Given the description of an element on the screen output the (x, y) to click on. 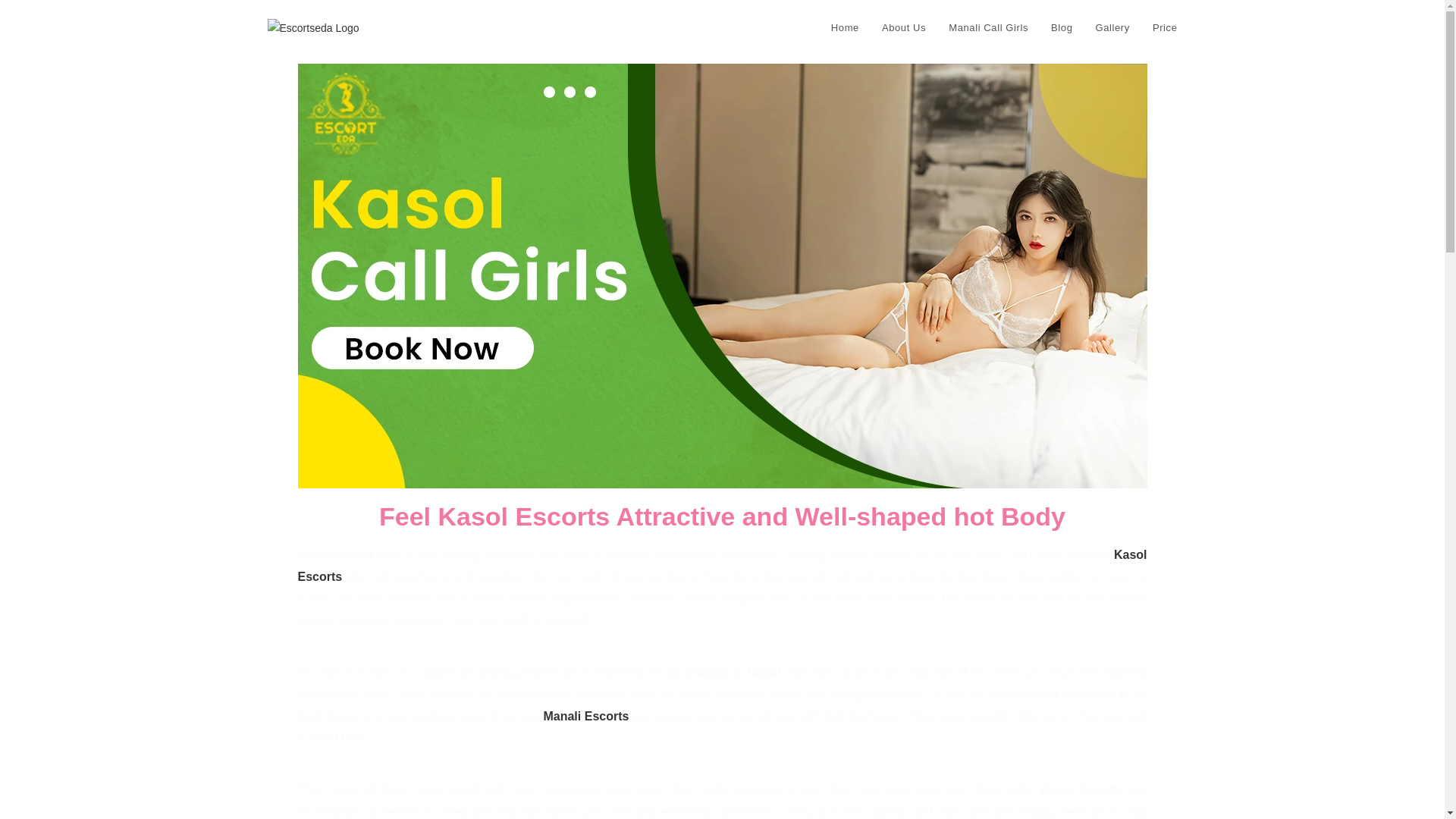
Manali Escorts (585, 716)
About Us (903, 28)
Gallery (1111, 28)
Blog (1061, 28)
Home (844, 28)
Manali Call Girls (988, 28)
Kasol Escorts (722, 565)
Price (1165, 28)
